Given the description of an element on the screen output the (x, y) to click on. 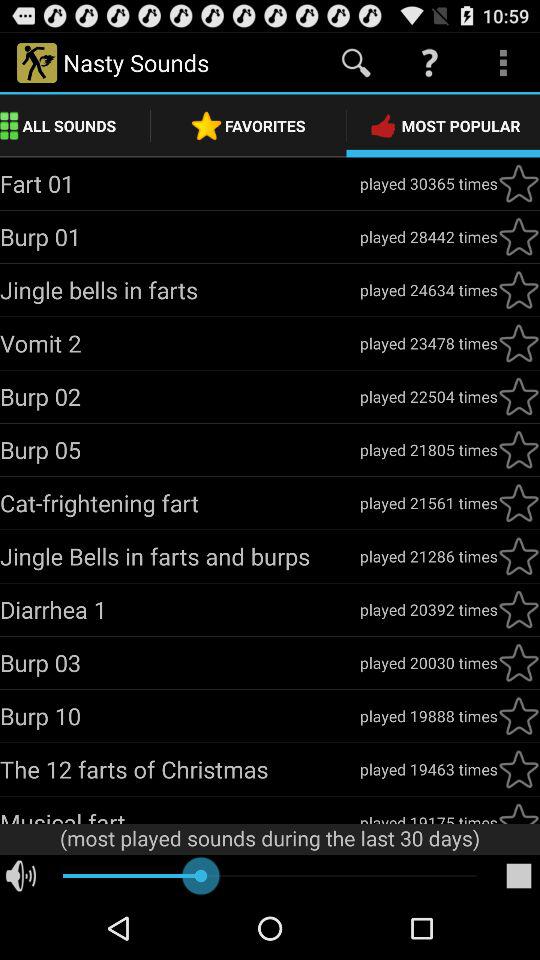
choose the played 21561 times item (428, 502)
